Given the description of an element on the screen output the (x, y) to click on. 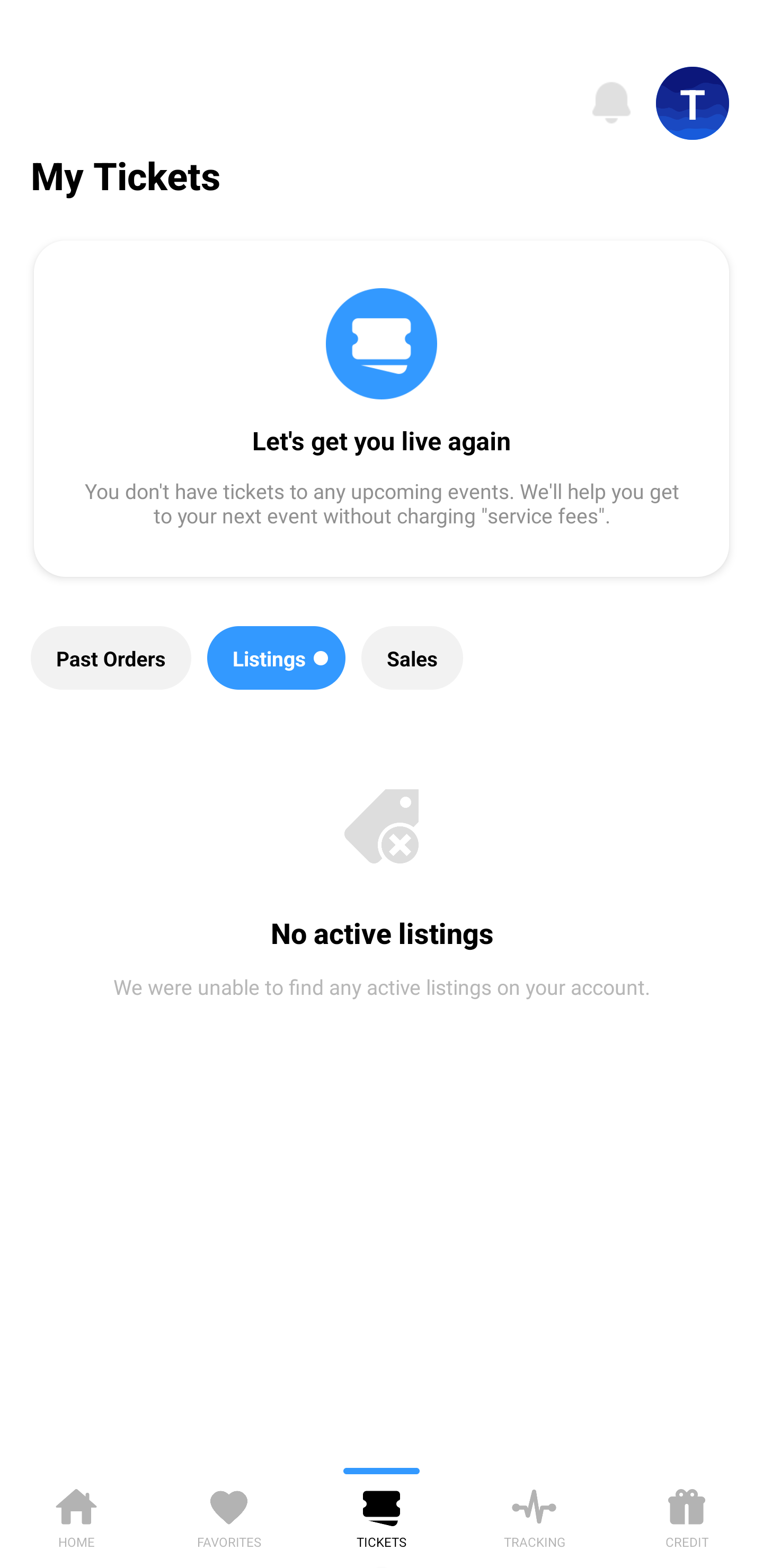
T (692, 103)
Past Orders (110, 657)
Listings (276, 657)
Sales (412, 657)
HOME (76, 1515)
FAVORITES (228, 1515)
TICKETS (381, 1515)
TRACKING (533, 1515)
CREDIT (686, 1515)
